Given the description of an element on the screen output the (x, y) to click on. 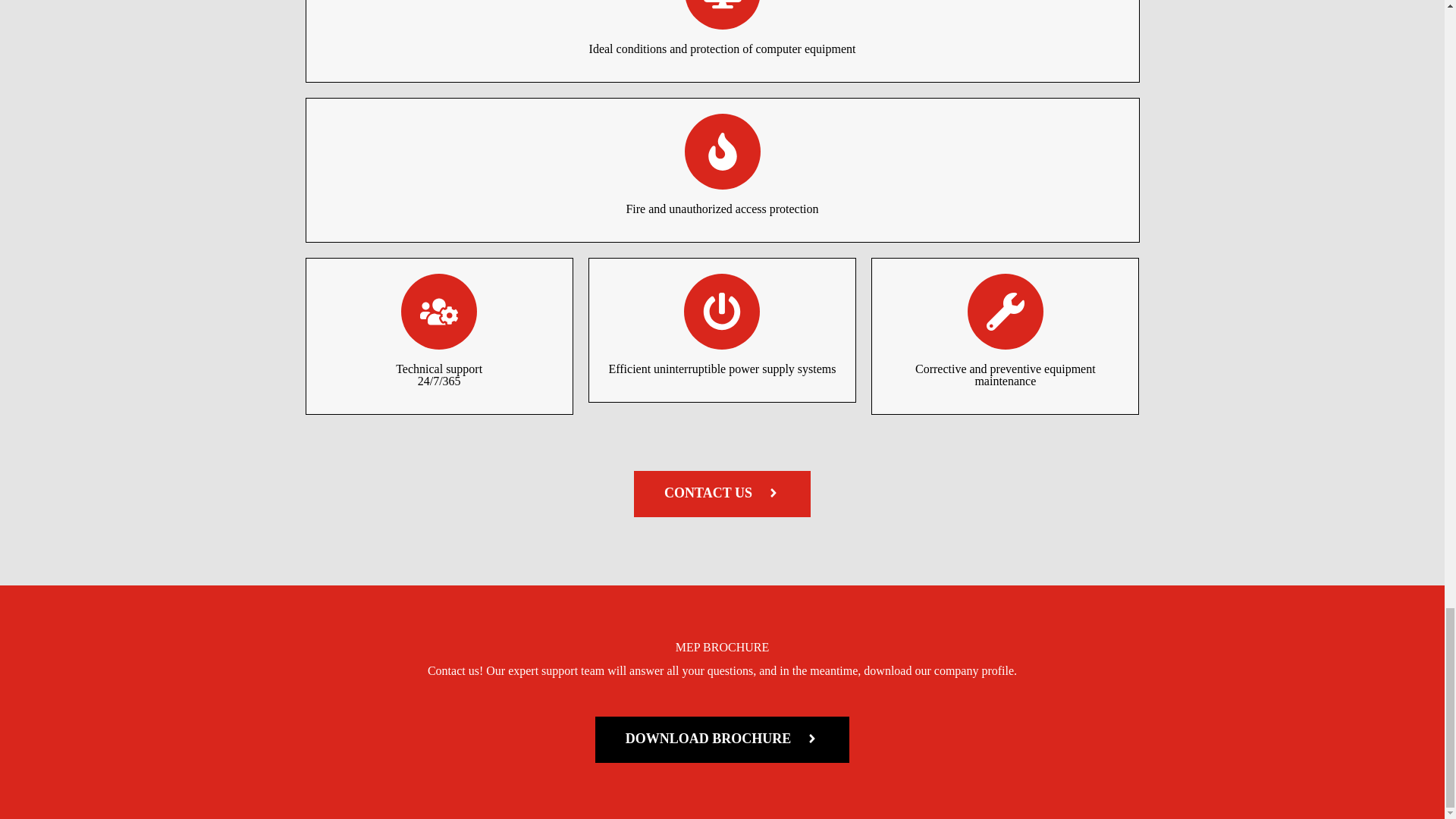
CONTACT US (721, 493)
DOWNLOAD BROCHURE (722, 739)
